Given the description of an element on the screen output the (x, y) to click on. 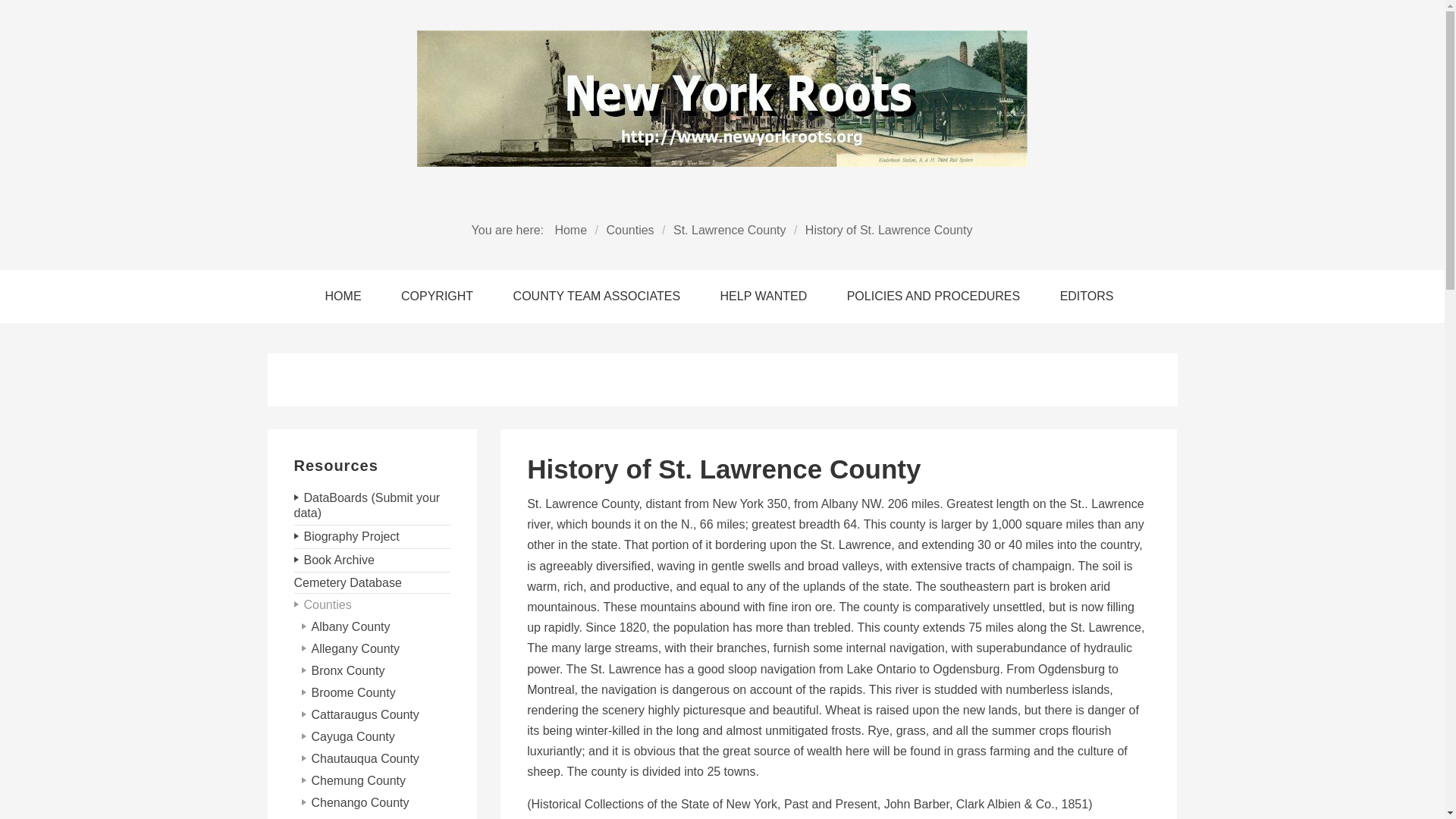
HELP WANTED (766, 296)
Biography Project (372, 536)
POLICIES AND PROCEDURES (936, 296)
COPYRIGHT (440, 296)
Counties (629, 229)
Chautauqua County (376, 759)
Counties (372, 604)
Cortland County (376, 816)
Albany County (376, 627)
Chemung County (376, 781)
